Given the description of an element on the screen output the (x, y) to click on. 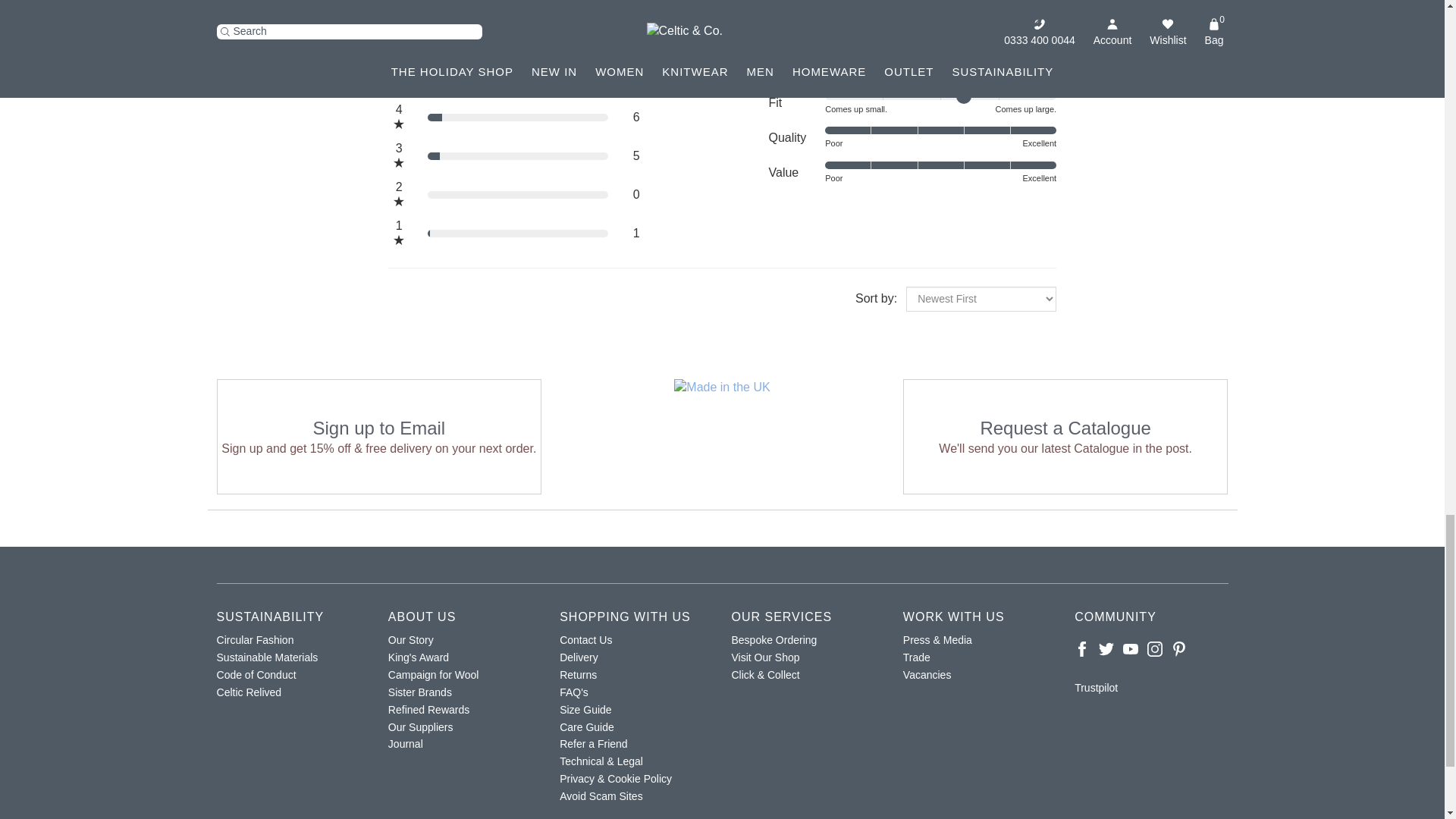
Pinterest (1179, 648)
Facebook (1081, 648)
Twitter (1106, 648)
YouTube (1130, 648)
Instagram (1154, 648)
